Given the description of an element on the screen output the (x, y) to click on. 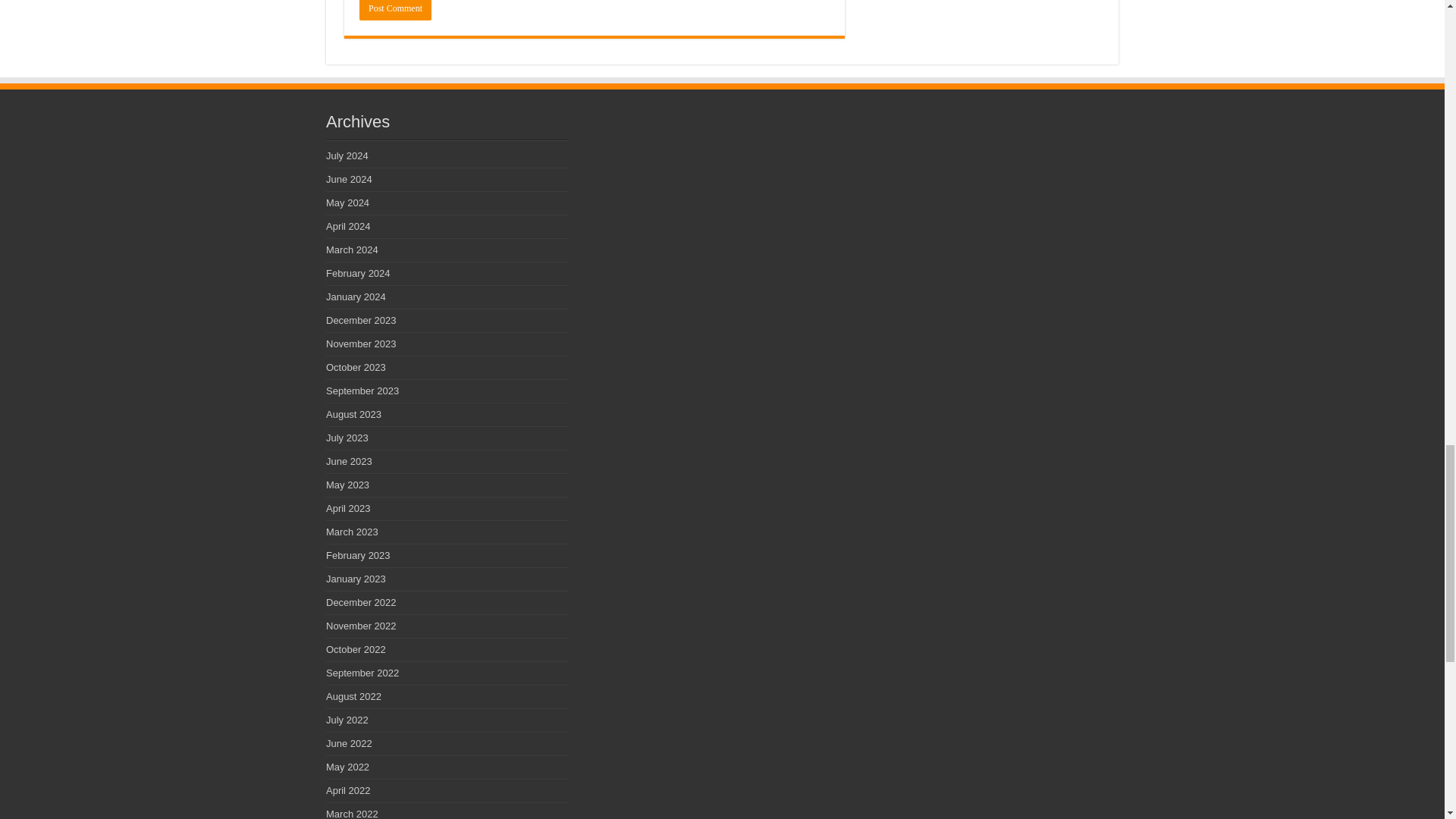
Post Comment (394, 10)
